Given the description of an element on the screen output the (x, y) to click on. 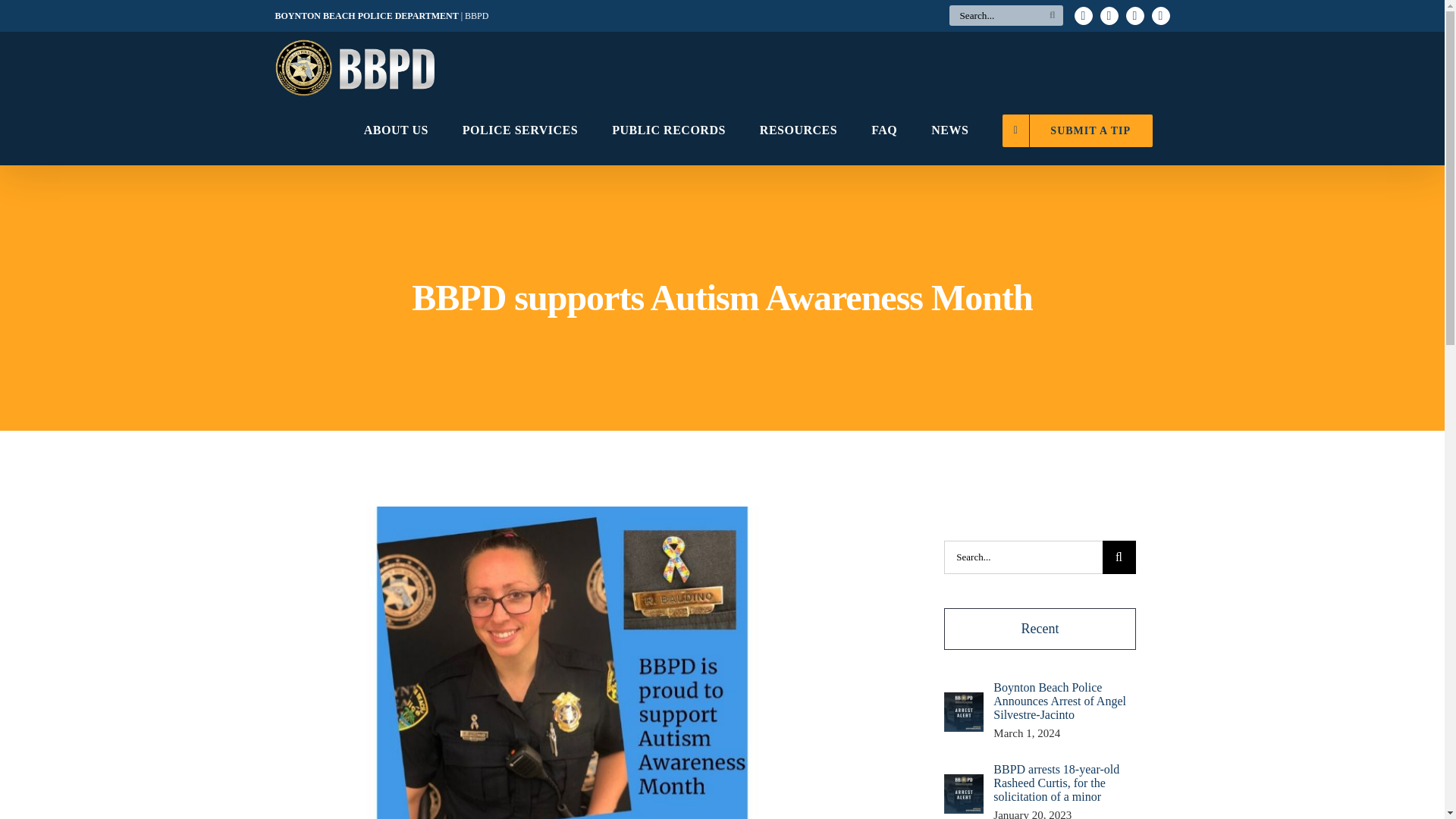
RESOURCES (797, 130)
YouTube (1134, 15)
Facebook (1109, 15)
X (1083, 15)
YouTube (1134, 15)
SUBMIT A TIP (1077, 130)
X (1083, 15)
Instagram (1160, 15)
PUBLIC RECORDS (668, 130)
